Given the description of an element on the screen output the (x, y) to click on. 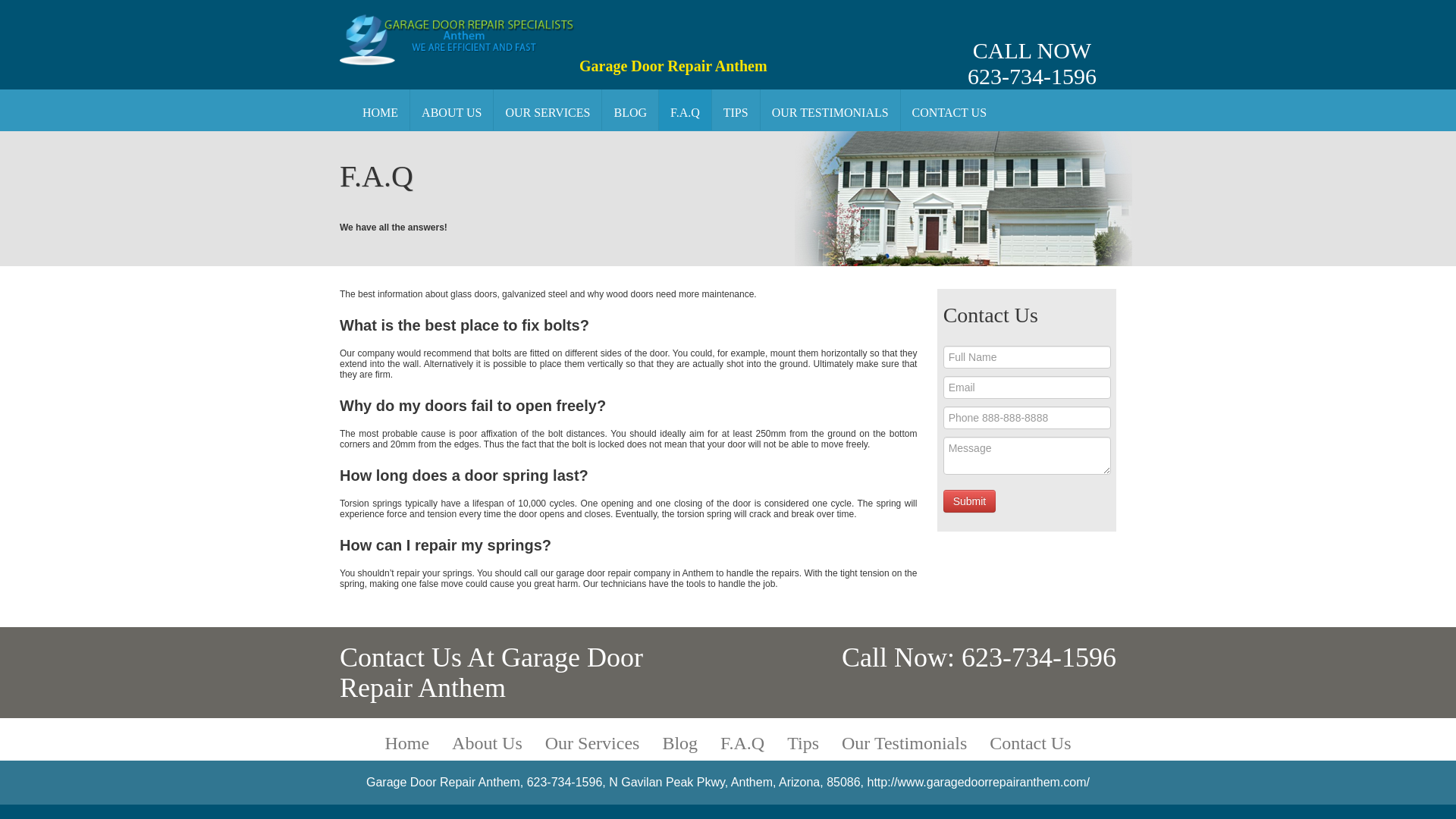
ABOUT US (451, 109)
F.A.Q (742, 742)
Tips (802, 742)
Submit (969, 500)
About Us (1031, 44)
HOME (486, 742)
TIPS (379, 109)
CONTACT US (735, 109)
F.A.Q (949, 109)
Home (685, 109)
OUR TESTIMONIALS (406, 742)
BLOG (829, 109)
Submit (630, 109)
Contact Us (969, 500)
